Given the description of an element on the screen output the (x, y) to click on. 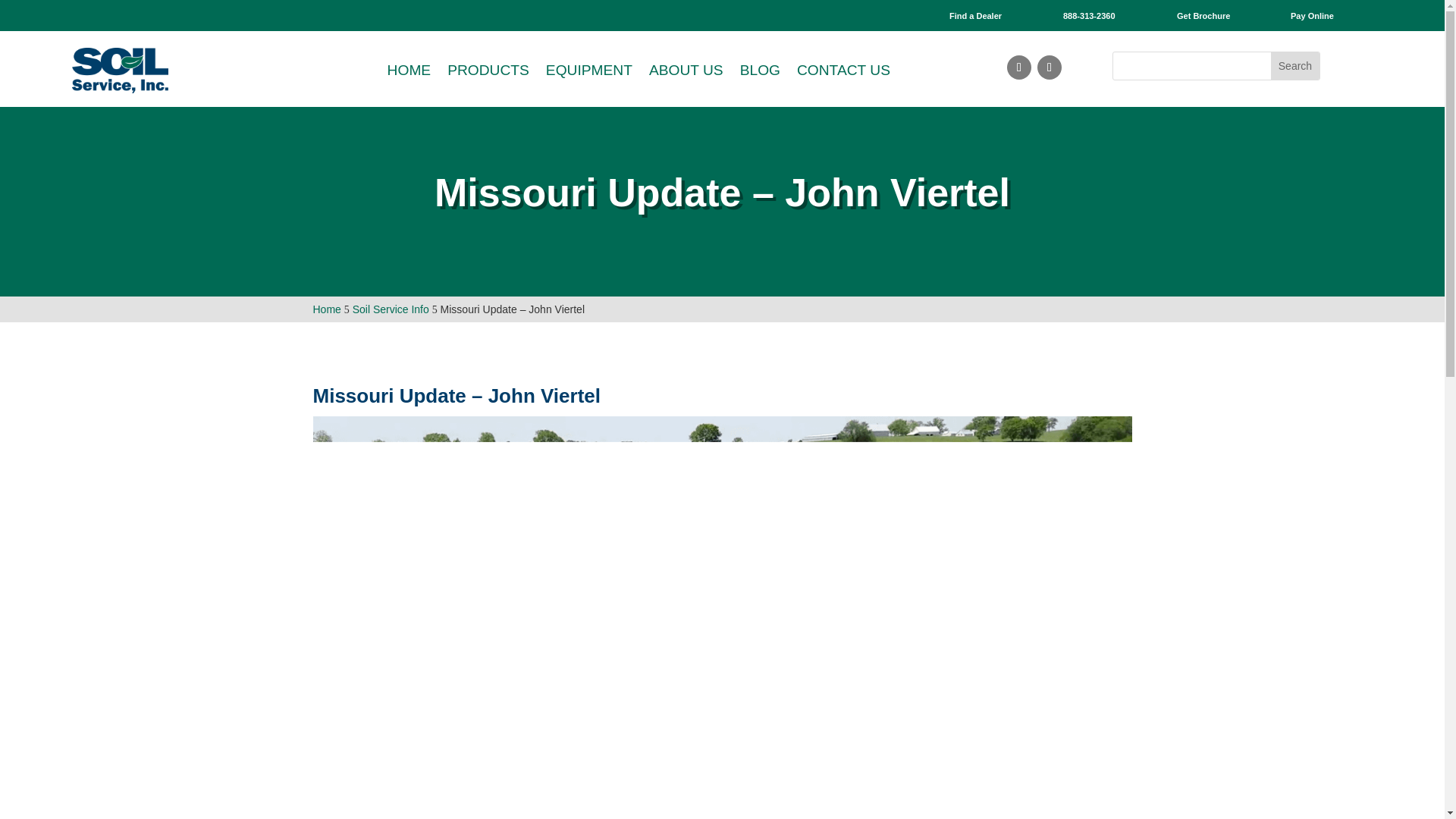
Search (1295, 65)
Follow on Youtube (1018, 67)
Pay Online (1311, 15)
Find a Dealer (975, 15)
Get Brochure (1203, 15)
888-313-2360 (1088, 15)
CONTACT US (842, 70)
PRODUCTS (487, 70)
ABOUT US (686, 70)
